Given the description of an element on the screen output the (x, y) to click on. 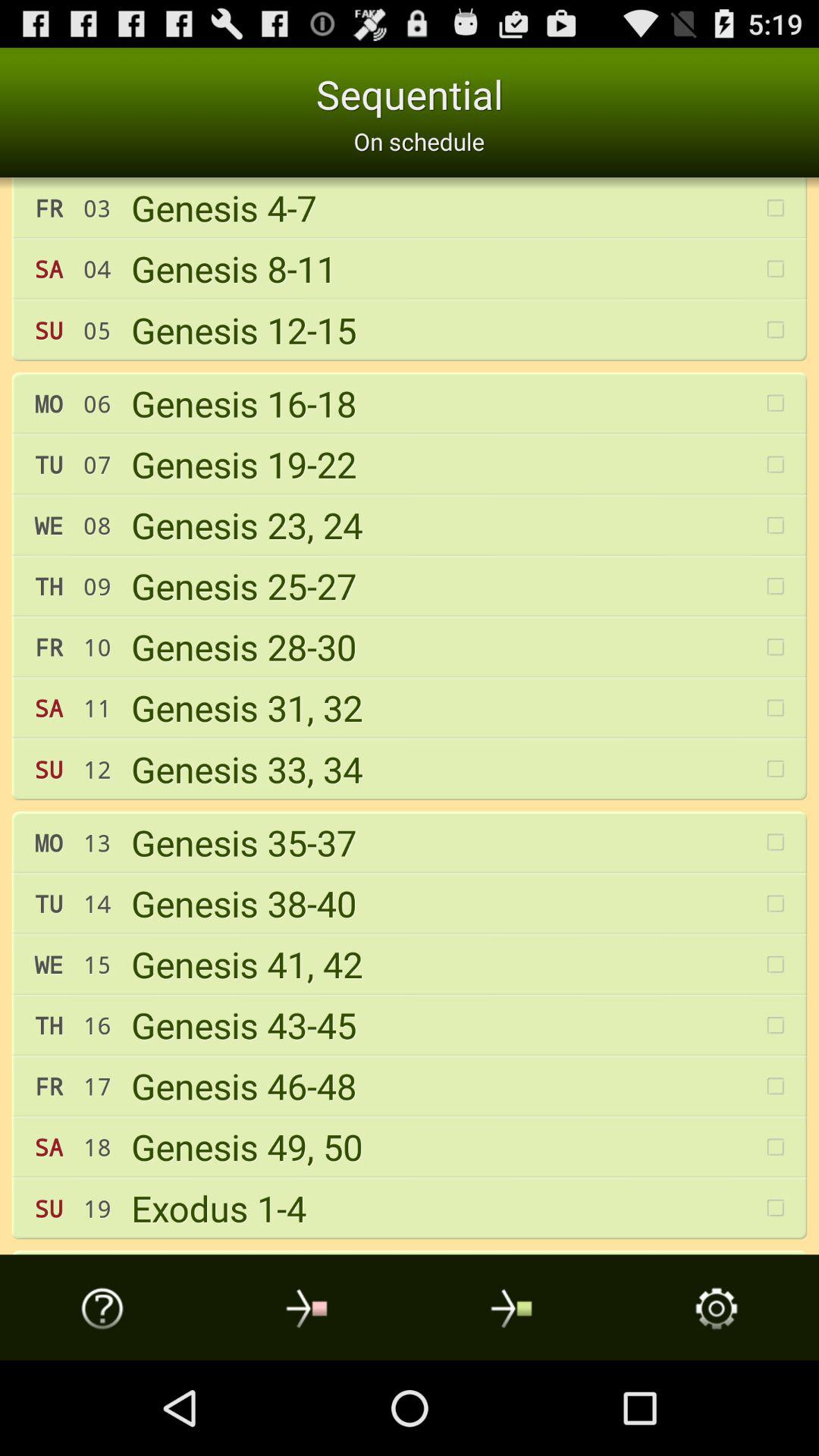
select the 13th select box (775, 964)
